Given the description of an element on the screen output the (x, y) to click on. 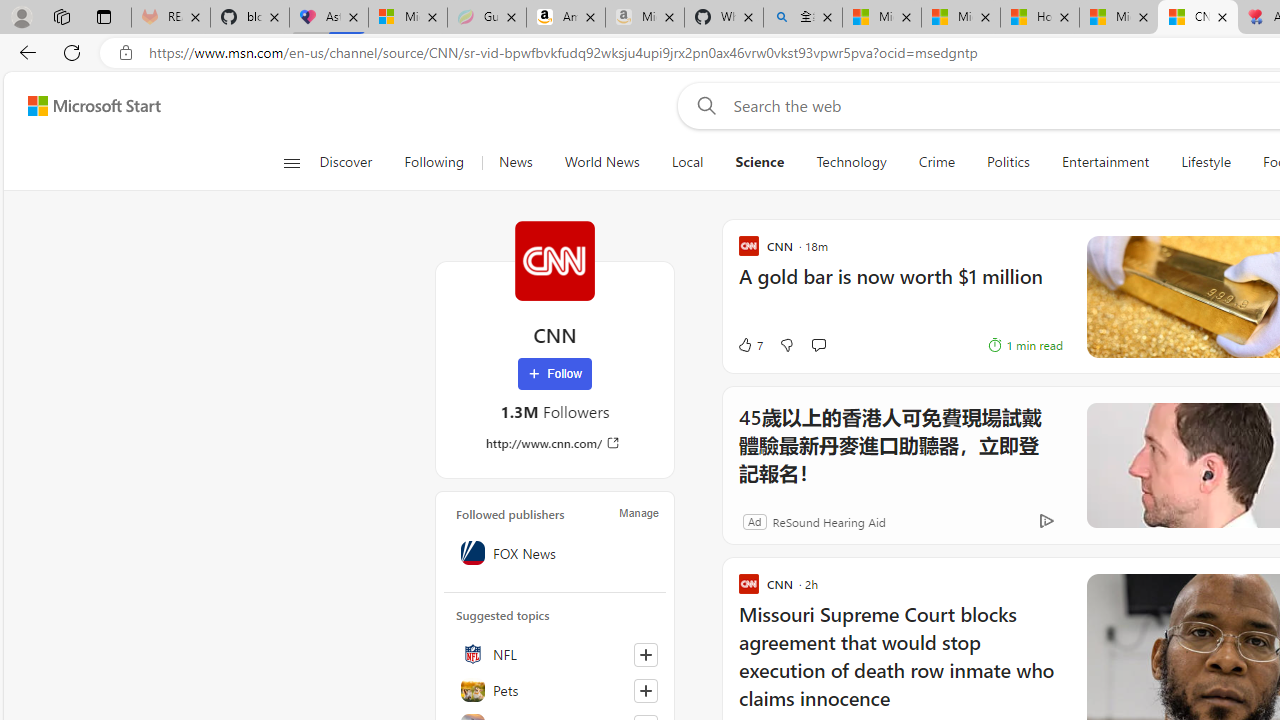
Class: button-glyph (290, 162)
CNN (554, 260)
Science (759, 162)
Open navigation menu (291, 162)
